Given the description of an element on the screen output the (x, y) to click on. 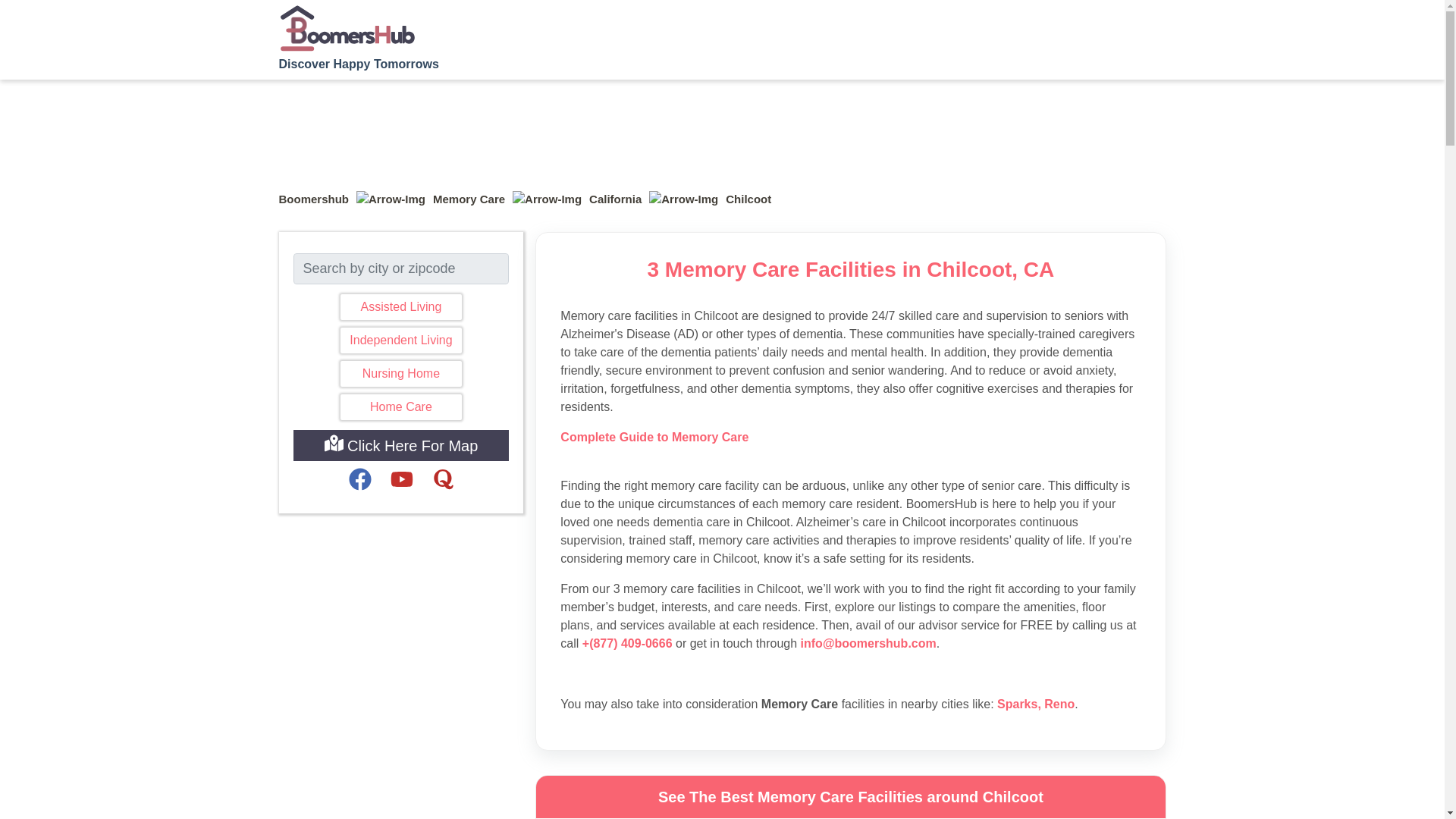
Boomershub (314, 199)
Independent Living in Chilcoot, CA (400, 339)
Home Care (400, 406)
Independent Living (400, 339)
Discover Happy Tomorrows (359, 36)
Memory Care (468, 199)
Click Here For Map (400, 445)
Memory Care (468, 199)
Home Care in Chilcoot, CA (400, 406)
Nursing Home in Chilcoot, CA (400, 373)
Memory Care facilities in Chilcoot, CA (748, 198)
Assisted Living (400, 307)
California (615, 199)
Reno (1058, 704)
Memory Care facilities in California (615, 199)
